Given the description of an element on the screen output the (x, y) to click on. 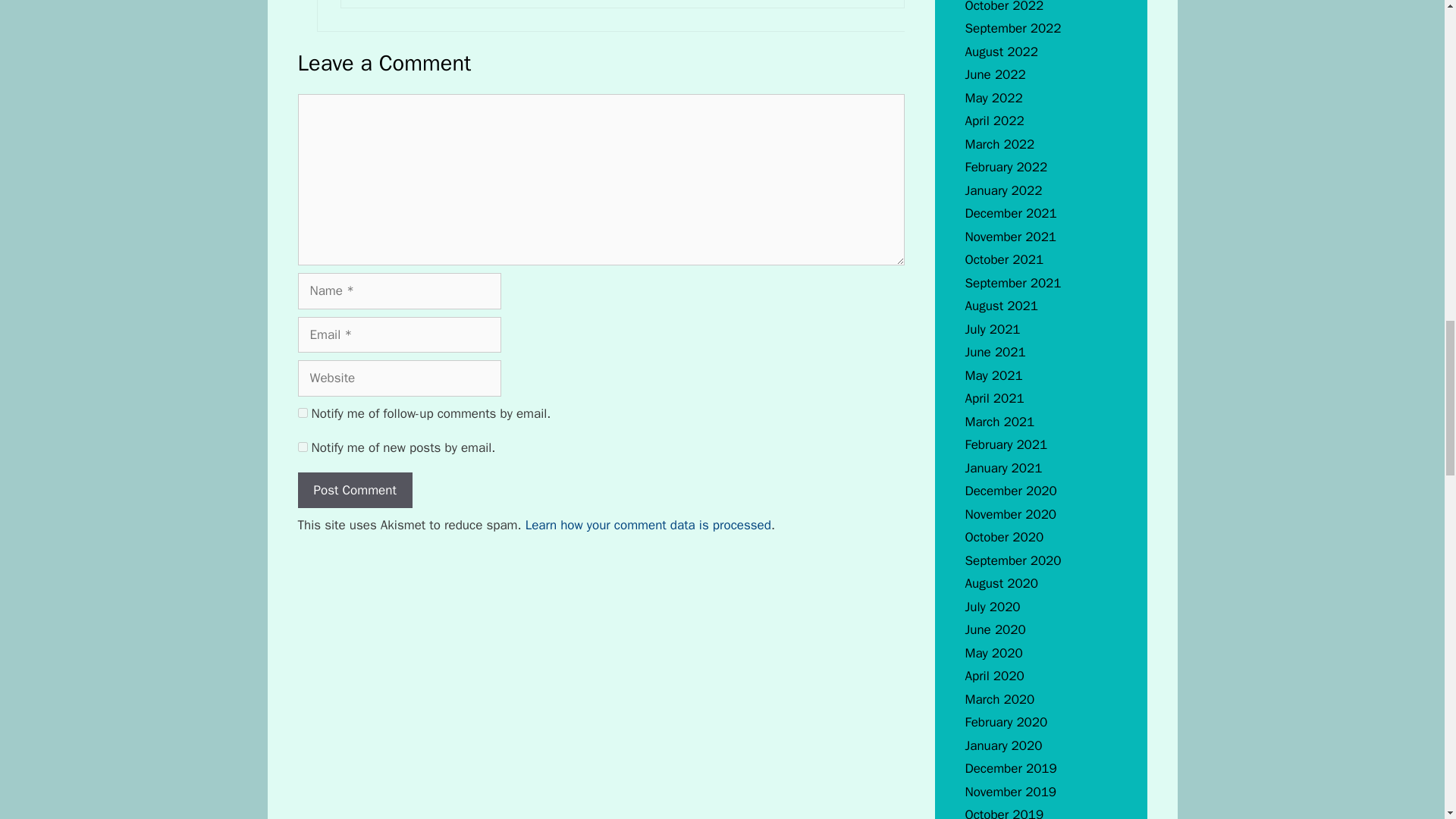
Post Comment (354, 490)
subscribe (302, 447)
Post Comment (354, 490)
subscribe (302, 412)
Learn how your comment data is processed (648, 524)
